Given the description of an element on the screen output the (x, y) to click on. 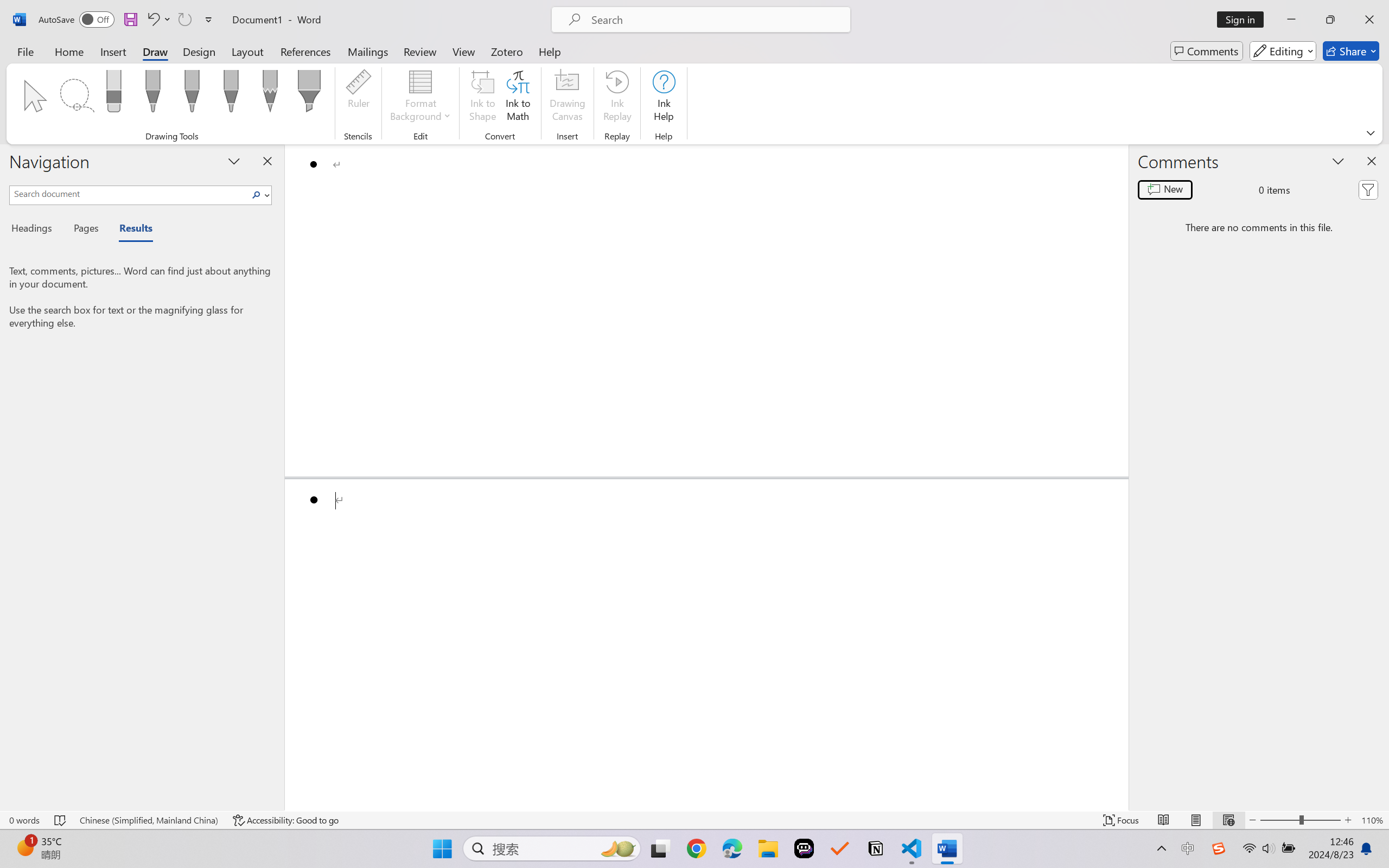
Highlighter: Yellow, 6 mm (309, 94)
Filter (1367, 189)
Ink Replay (617, 97)
